Given the description of an element on the screen output the (x, y) to click on. 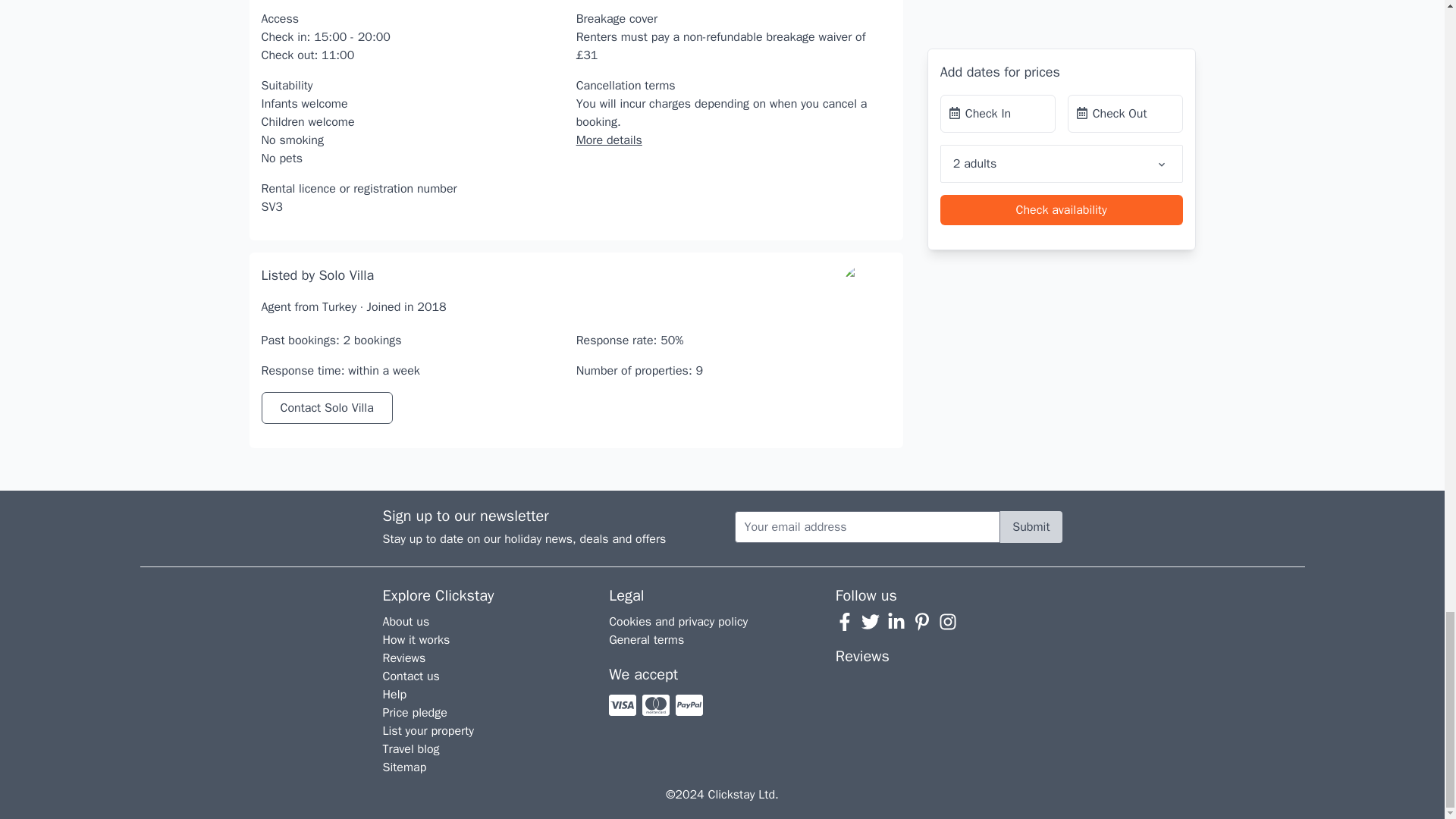
Contact Solo Villa (325, 408)
More details (609, 140)
About us (405, 621)
How it works (415, 639)
Reviews (404, 657)
Submit (1030, 526)
